Given the description of an element on the screen output the (x, y) to click on. 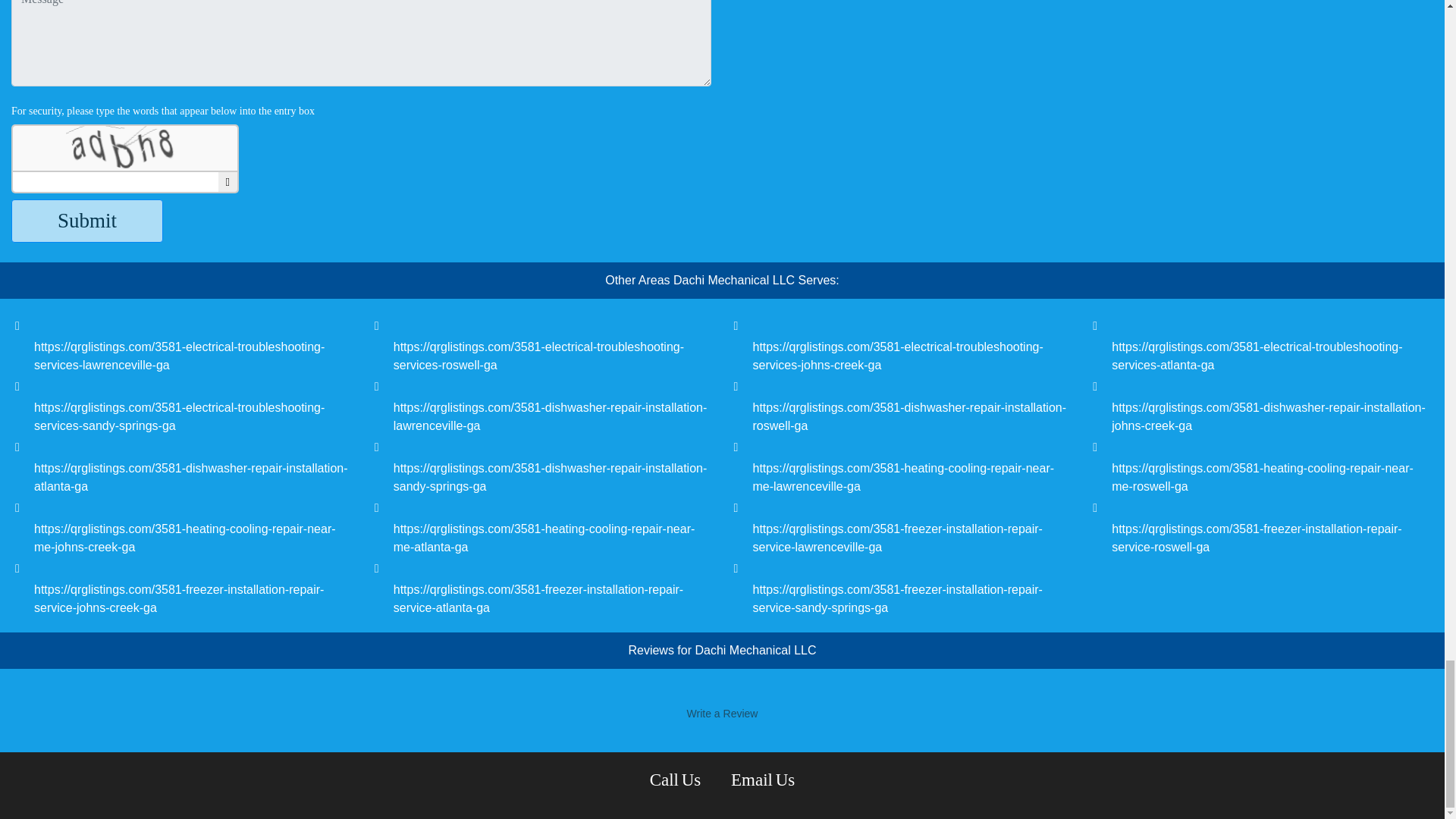
Write a Review (722, 713)
Call Us (676, 779)
Email Us (762, 779)
Submit (87, 220)
